Given the description of an element on the screen output the (x, y) to click on. 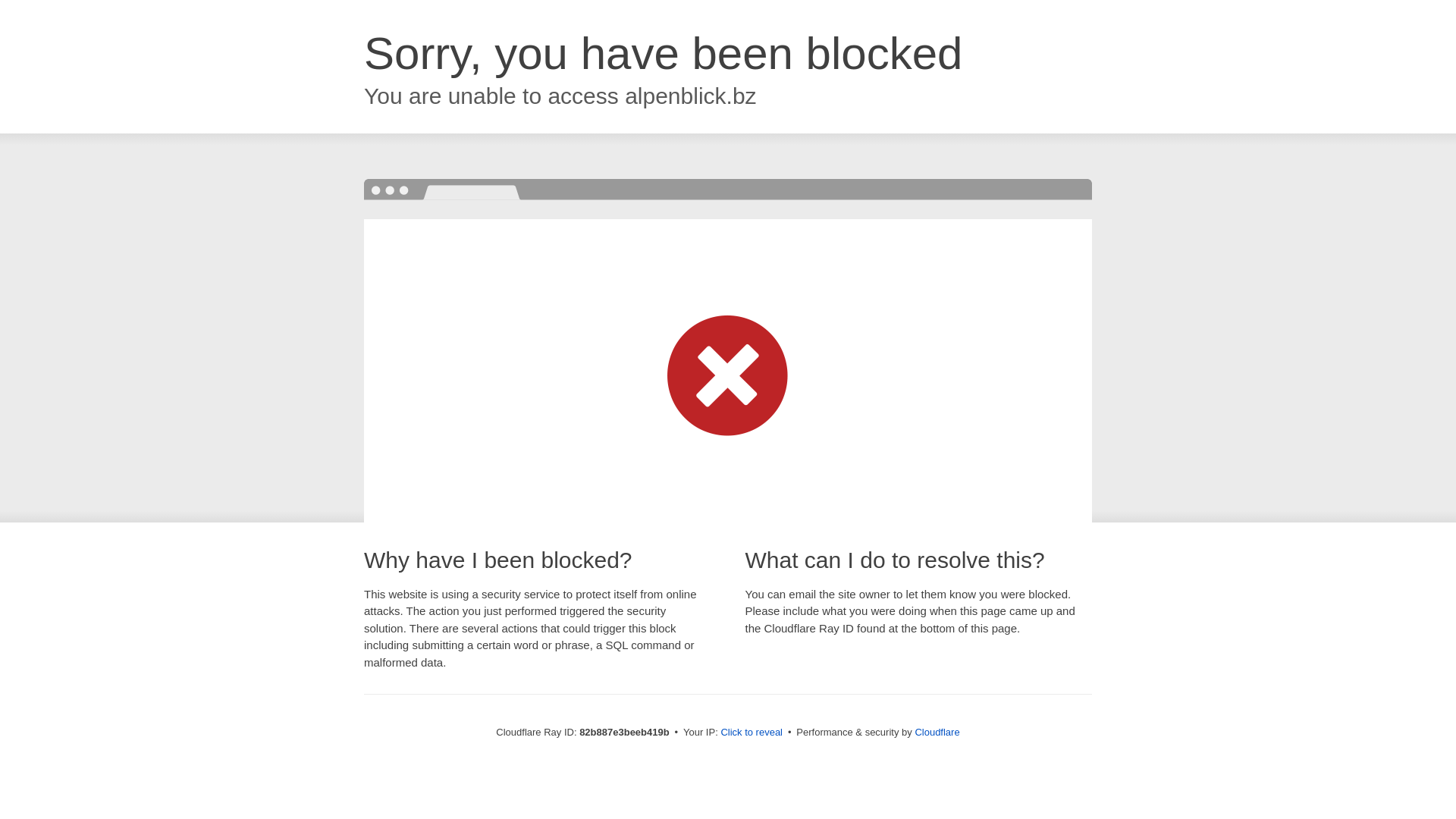
Cloudflare Element type: text (936, 731)
Click to reveal Element type: text (751, 732)
